Given the description of an element on the screen output the (x, y) to click on. 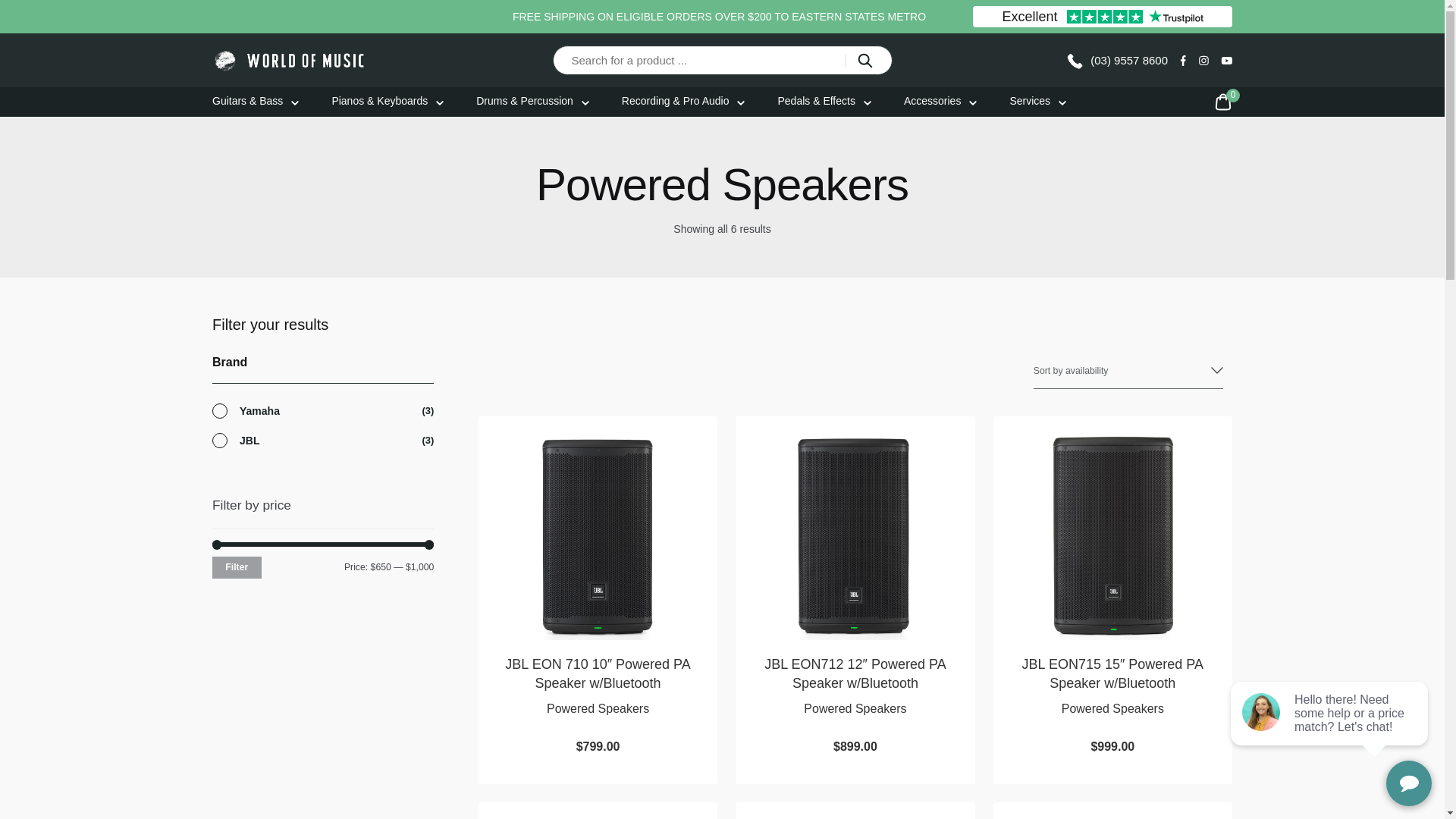
Customer reviews powered by Trustpilot (1101, 16)
World of Music (290, 60)
